Given the description of an element on the screen output the (x, y) to click on. 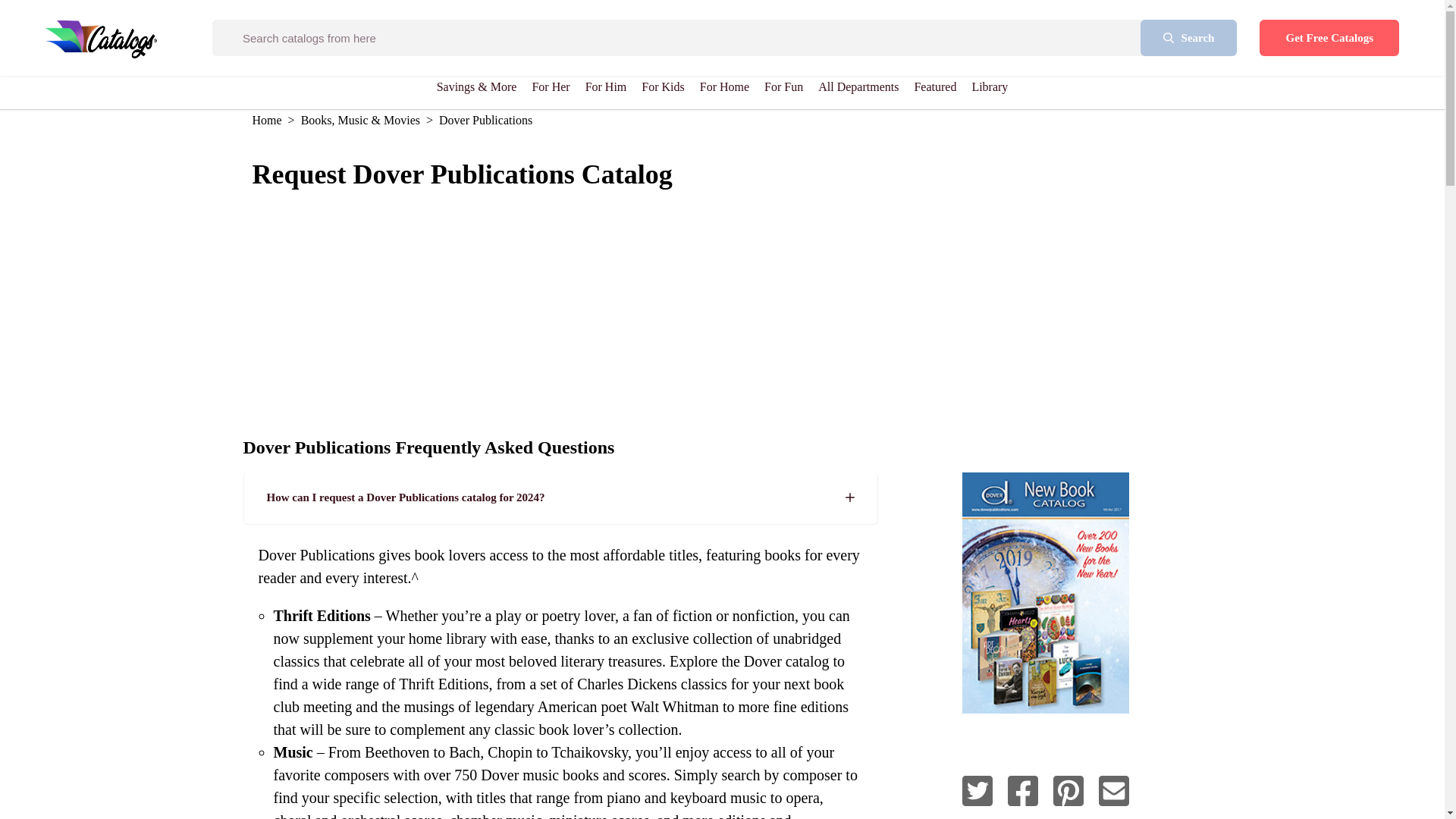
Search (1188, 37)
Dover Publications (1067, 792)
Get Free Catalogs (1329, 37)
